Given the description of an element on the screen output the (x, y) to click on. 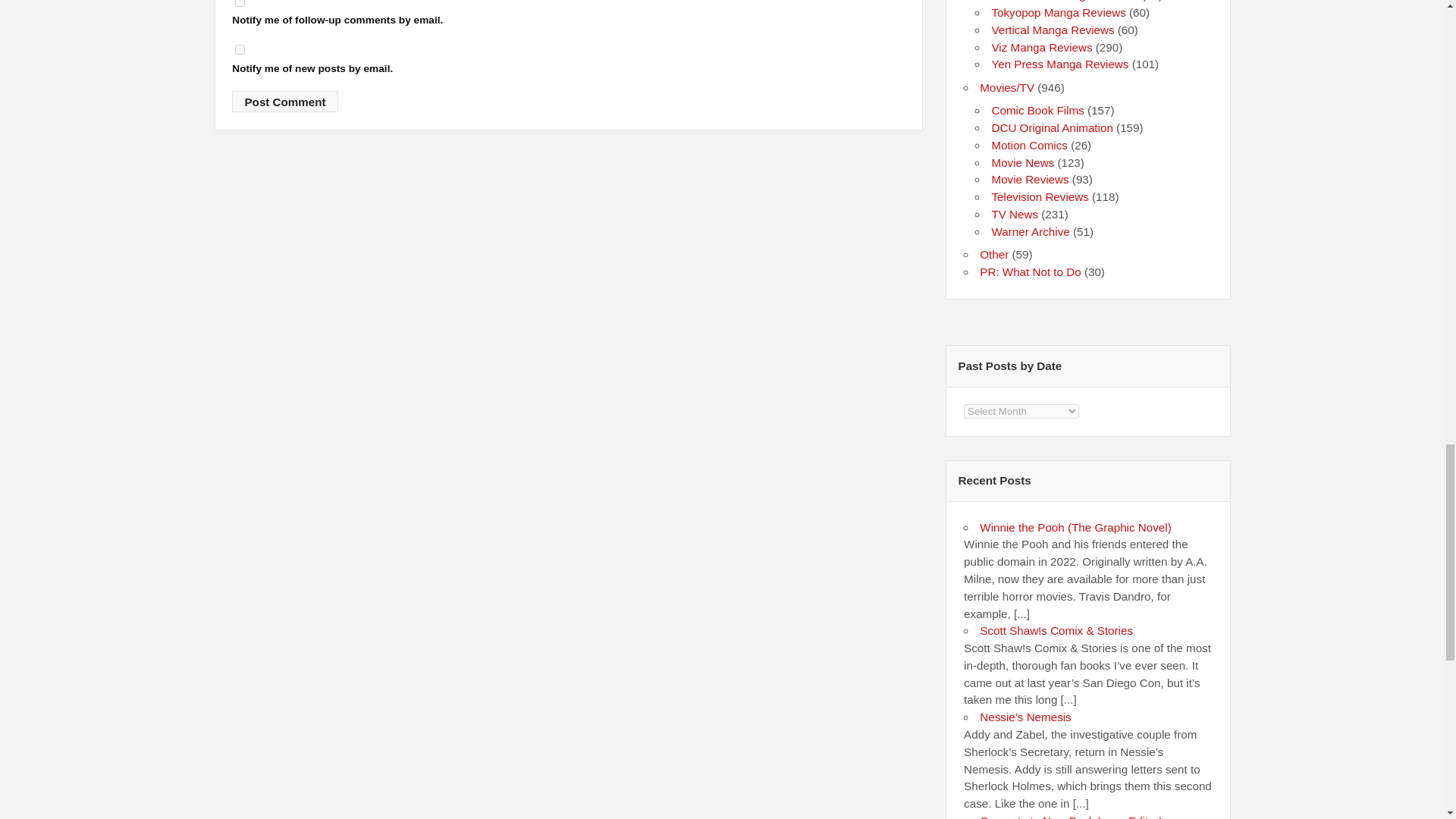
Post Comment (284, 101)
subscribe (239, 49)
subscribe (239, 3)
